Given the description of an element on the screen output the (x, y) to click on. 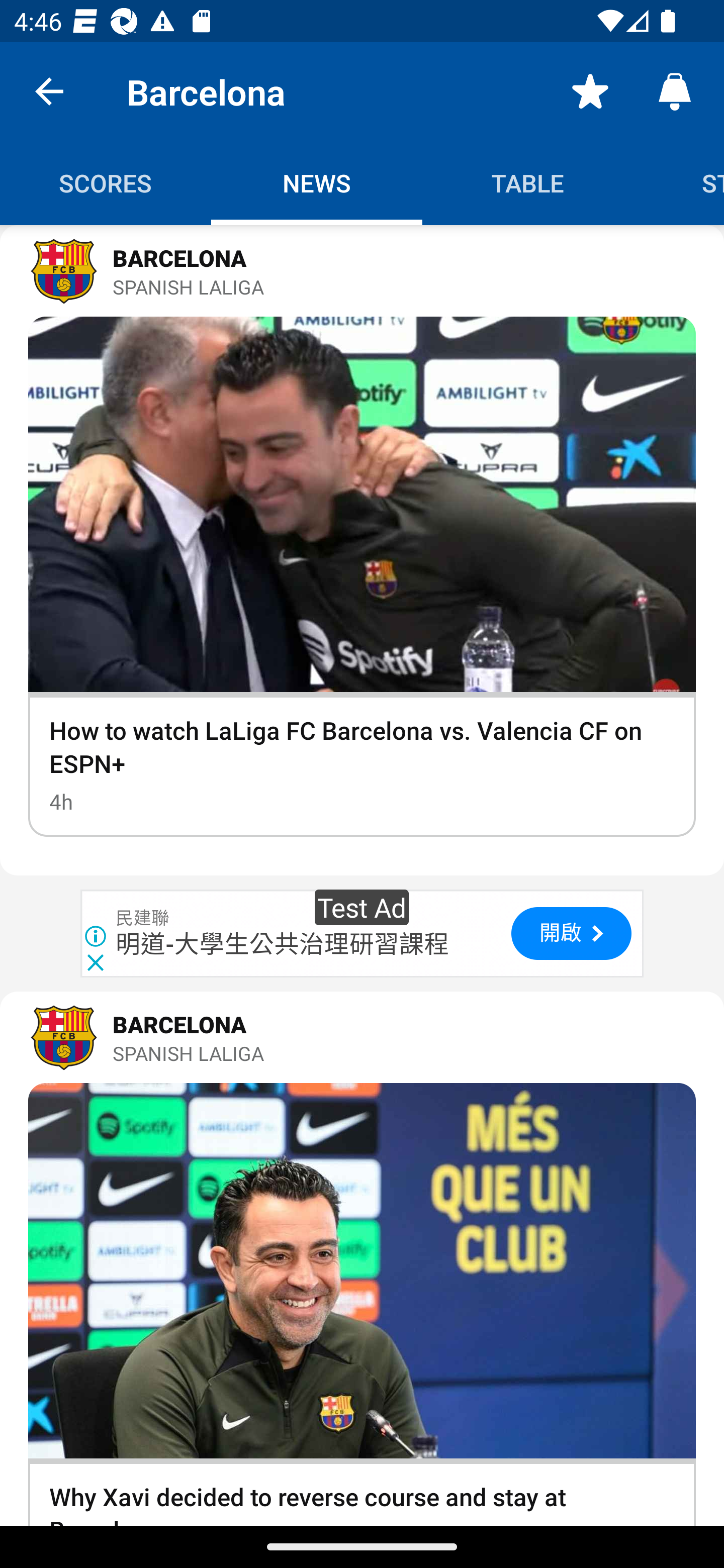
back.button (49, 90)
Favorite toggle (590, 90)
Alerts (674, 90)
Scores SCORES (105, 183)
Table TABLE (527, 183)
BARCELONA SPANISH LALIGA (362, 270)
民建聯 (142, 918)
開啟 (570, 933)
明道-大學生公共治理研習課程 (282, 943)
BARCELONA SPANISH LALIGA (362, 1036)
